Given the description of an element on the screen output the (x, y) to click on. 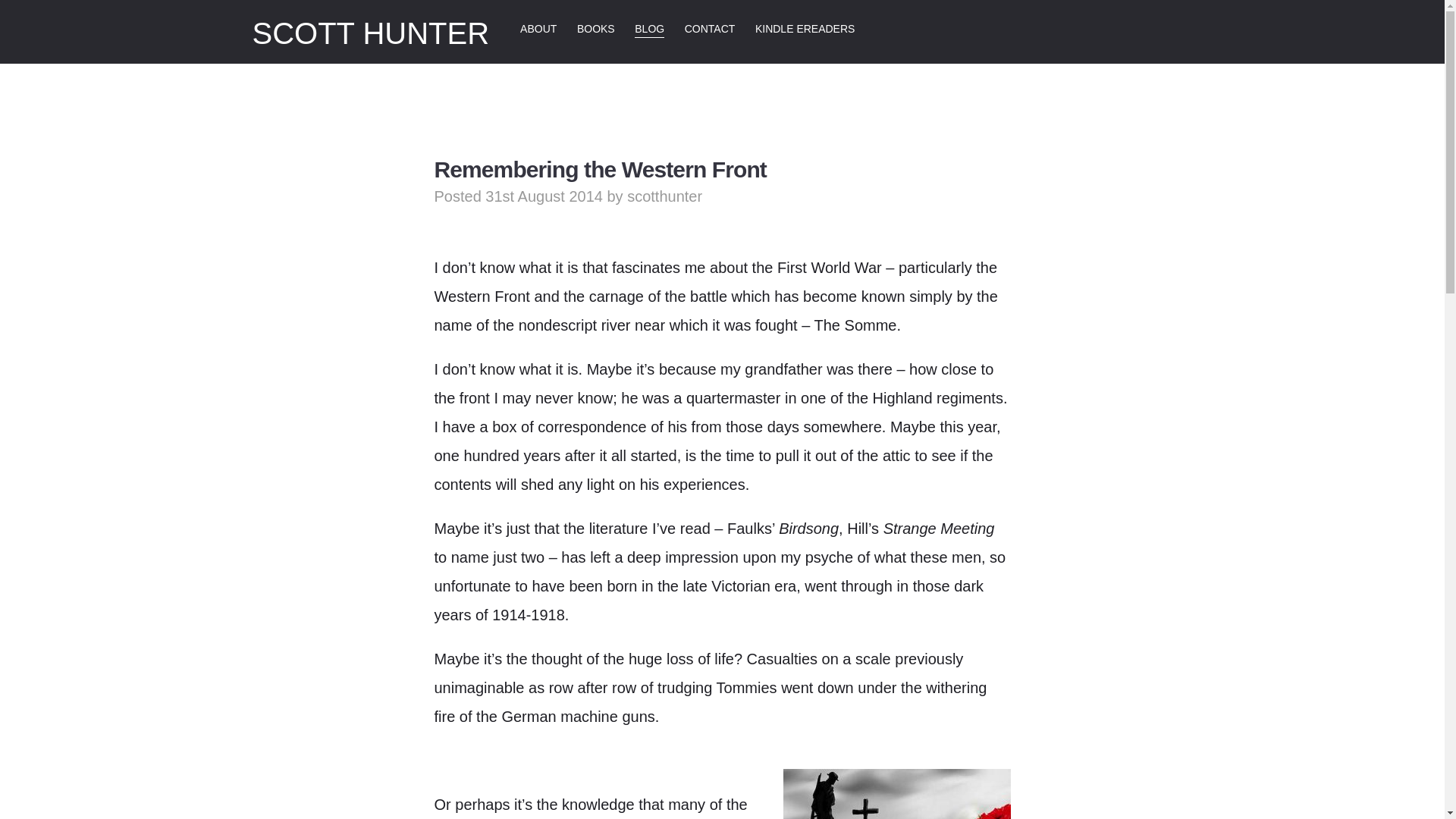
BLOG (648, 29)
Scott Hunter (370, 33)
KINDLE EREADERS (804, 29)
SCOTT HUNTER (370, 33)
BOOKS (595, 29)
CONTACT (709, 29)
ABOUT (537, 29)
